Given the description of an element on the screen output the (x, y) to click on. 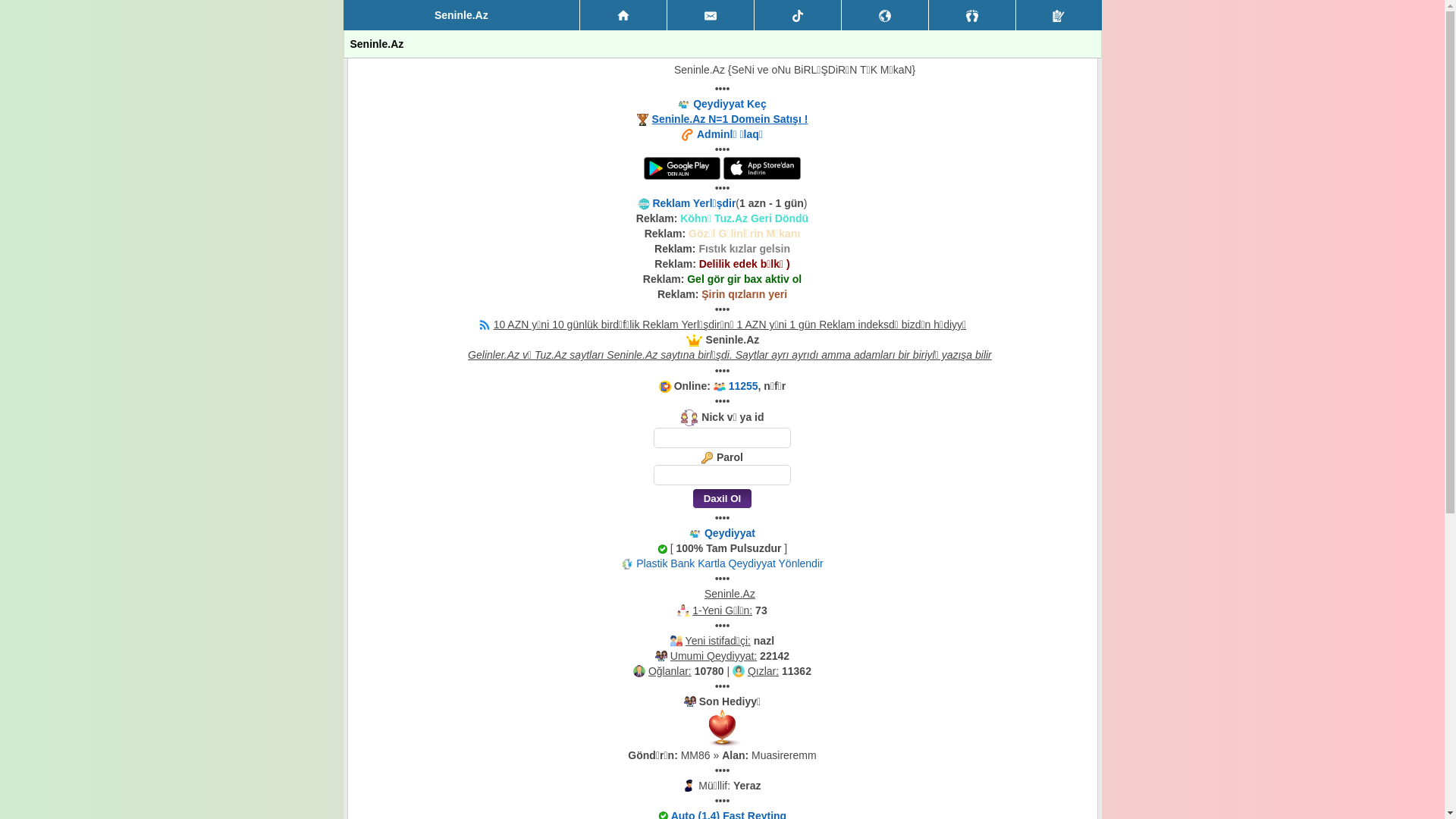
Parol Element type: hover (721, 474)
Qonaqlar Element type: hover (971, 15)
11255 Element type: text (743, 385)
Qeydiyyat Element type: hover (1058, 15)
Mesajlar Element type: hover (710, 15)
Bildirisler Element type: hover (884, 15)
Tiktok Element type: hover (797, 15)
nick Element type: hover (721, 437)
Daxil Ol Element type: text (721, 498)
Qeydiyyat Element type: text (729, 533)
